Given the description of an element on the screen output the (x, y) to click on. 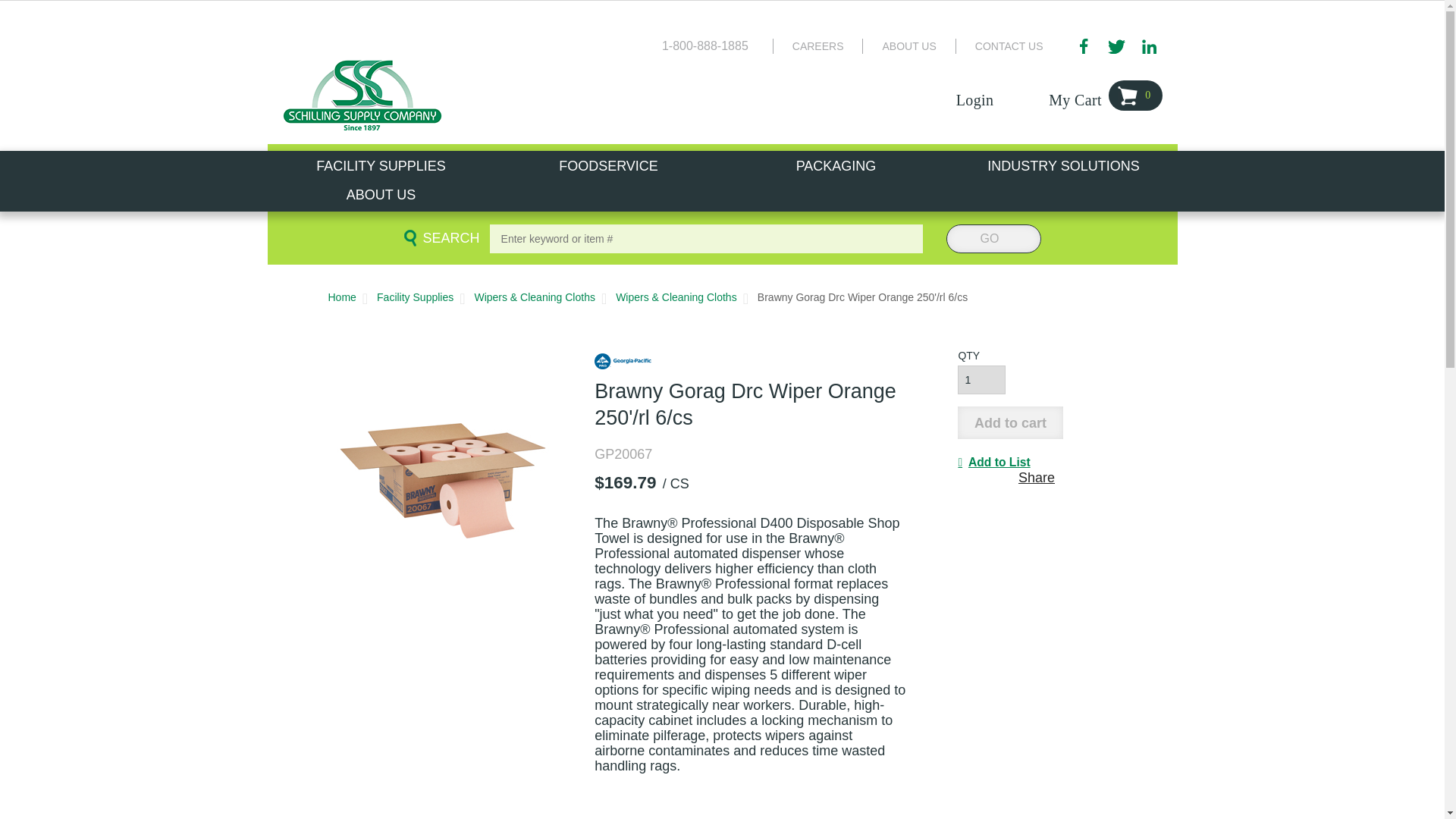
FACILITY SUPPLIES (380, 164)
ABOUT US (909, 46)
My Cart 0 (1104, 93)
CAREERS (818, 46)
Login (990, 93)
CONTACT US (1009, 46)
GP Pro (622, 360)
1 (981, 379)
